Given the description of an element on the screen output the (x, y) to click on. 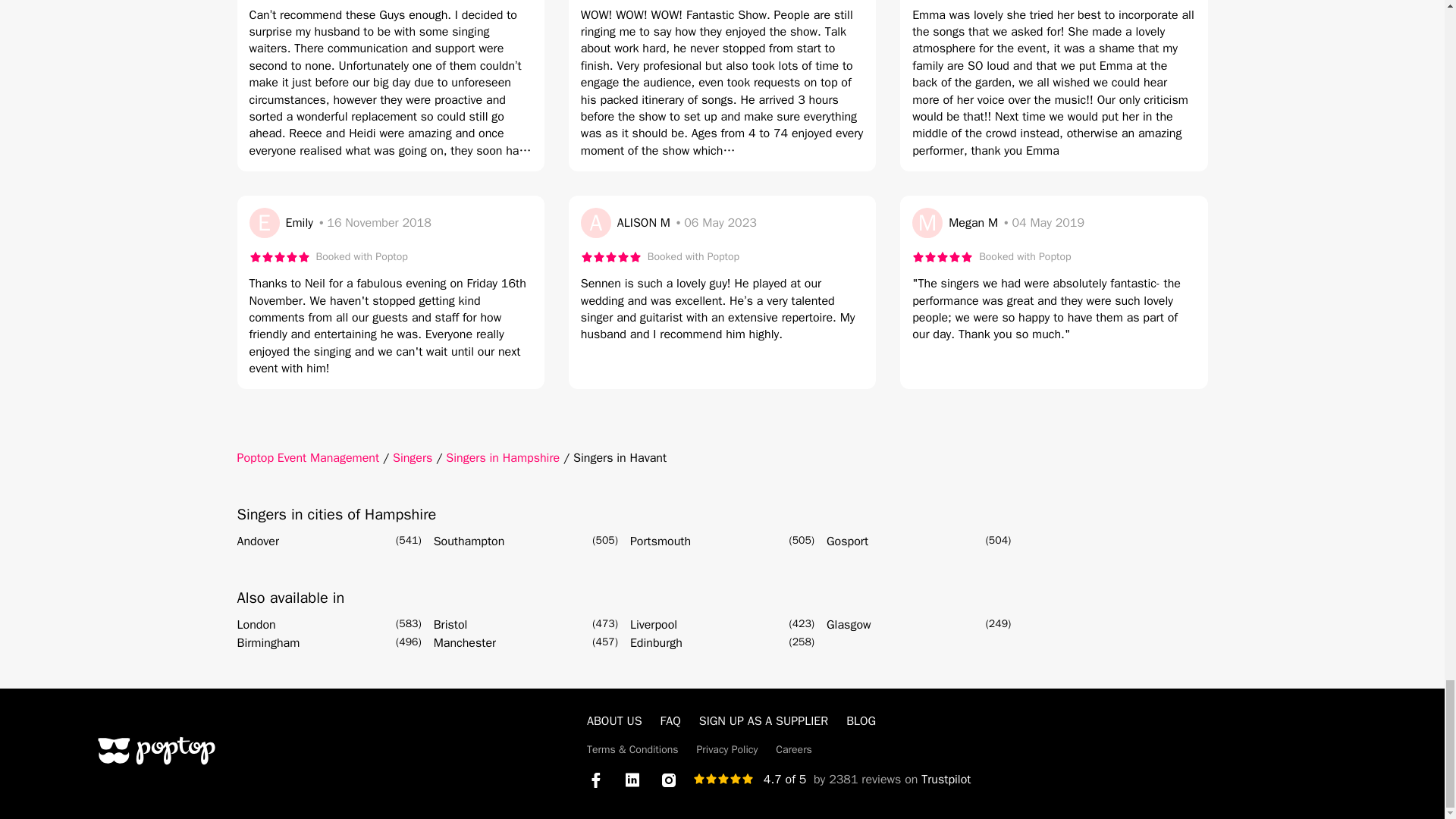
Bristol (450, 624)
Southampton (469, 541)
Gosport (847, 541)
Andover (257, 541)
Portsmouth (660, 541)
London (255, 624)
Singers (412, 458)
ABOUT US (614, 720)
Edinburgh (656, 642)
Poptop Event Management (306, 458)
Glasgow (848, 624)
Manchester (464, 642)
Singers in Hampshire (502, 458)
Birmingham (267, 642)
Liverpool (653, 624)
